Given the description of an element on the screen output the (x, y) to click on. 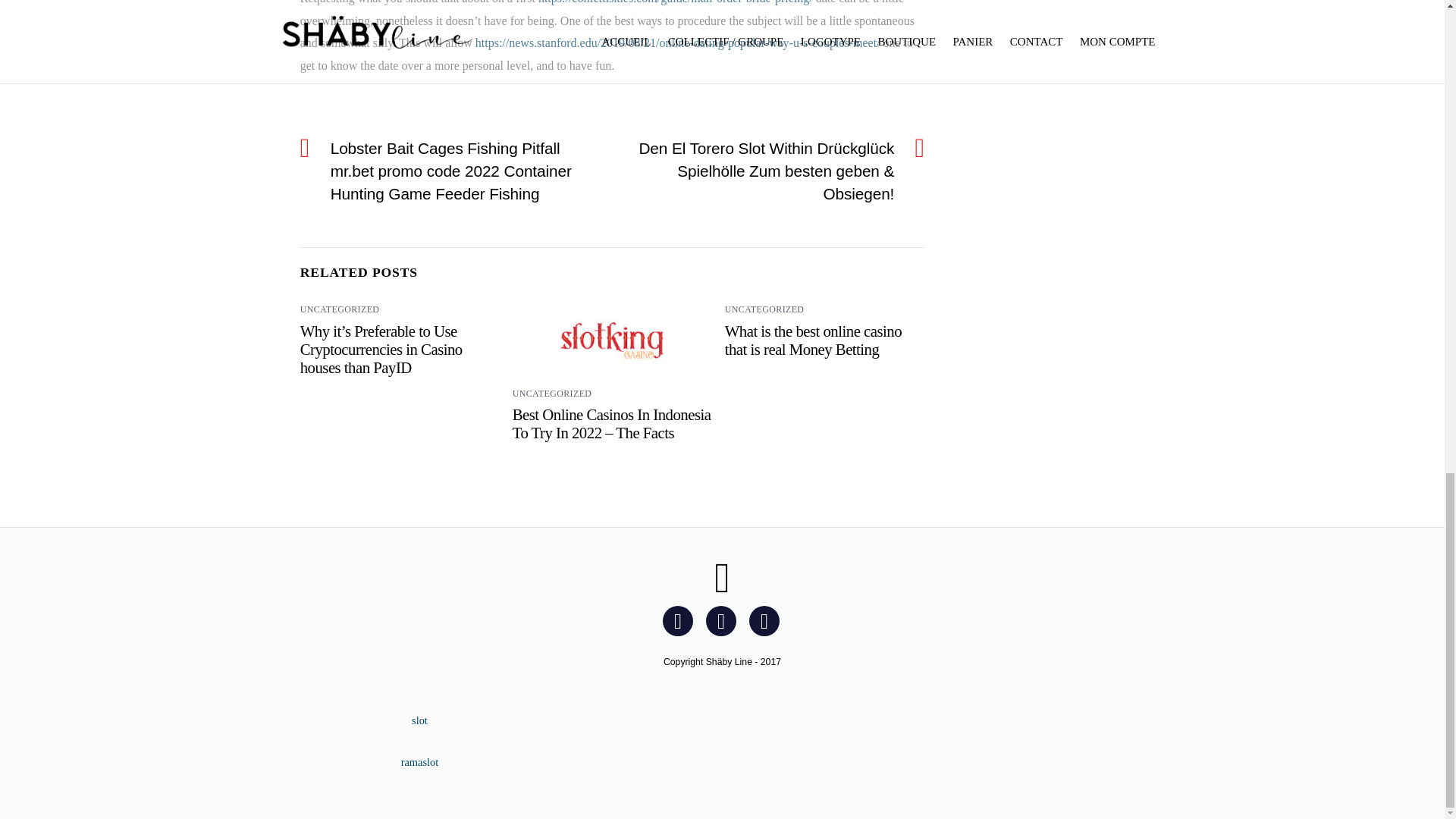
Instagram (723, 619)
What is the best online casino that is real Money Betting (813, 339)
Facebook (680, 619)
slot (420, 720)
ramaslot (420, 761)
What is the best online casino that is real Money Betting (813, 339)
YouTube (766, 619)
UNCATEGORIZED (339, 308)
UNCATEGORIZED (552, 393)
